Given the description of an element on the screen output the (x, y) to click on. 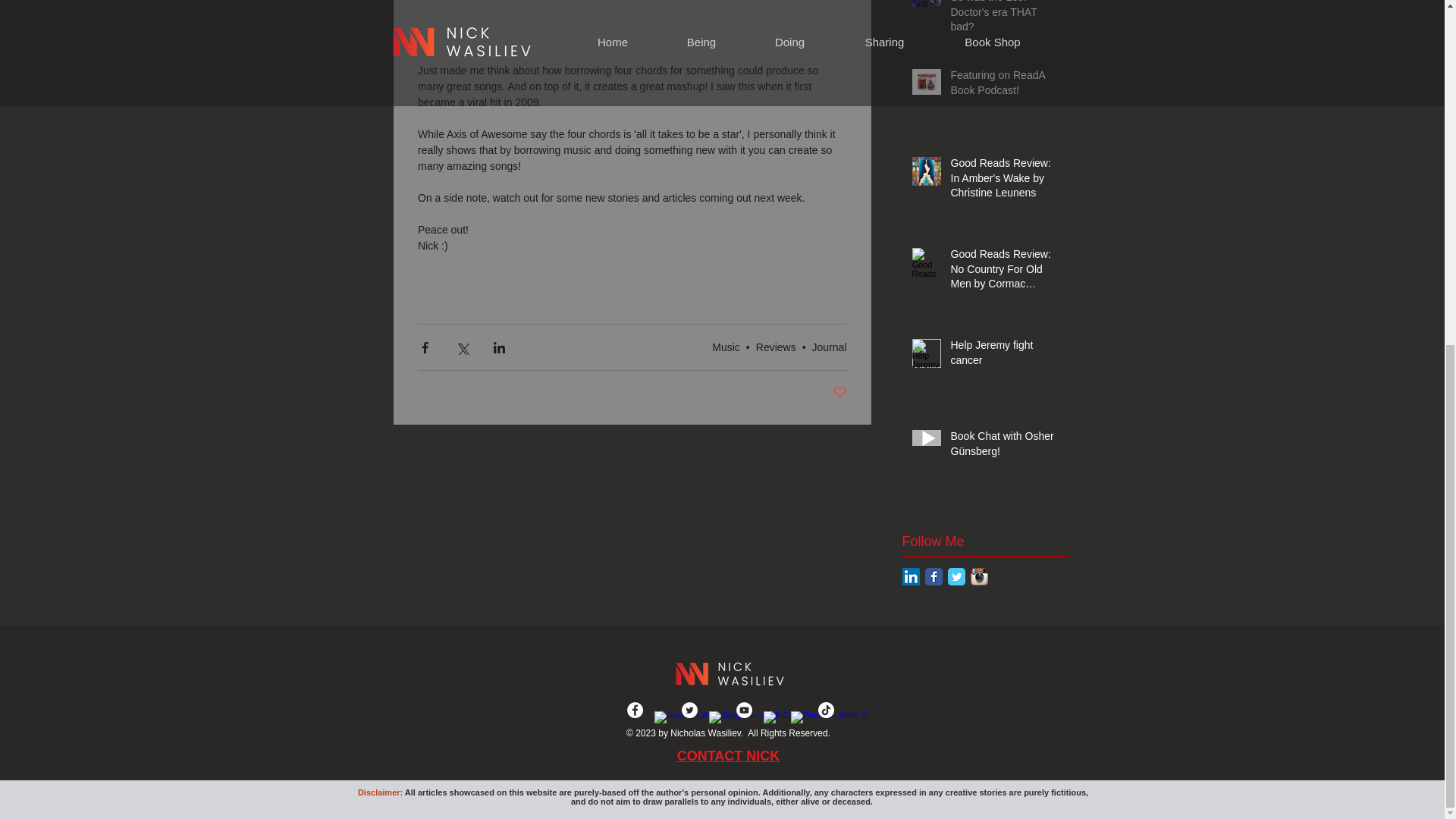
Featuring on ReadA Book Podcast! (1004, 85)
Post not marked as liked (839, 392)
So was the 13th Doctor's era THAT bad? (1004, 20)
Good Reads Review: No Country For Old Men by Cormac McCarthy (1004, 272)
Reviews (775, 346)
Good Reads Review: In Amber's Wake by Christine Leunens (1004, 181)
Journal (829, 346)
Music (725, 346)
Help Jeremy fight cancer (1004, 355)
Logo 1 White.png (728, 672)
